Given the description of an element on the screen output the (x, y) to click on. 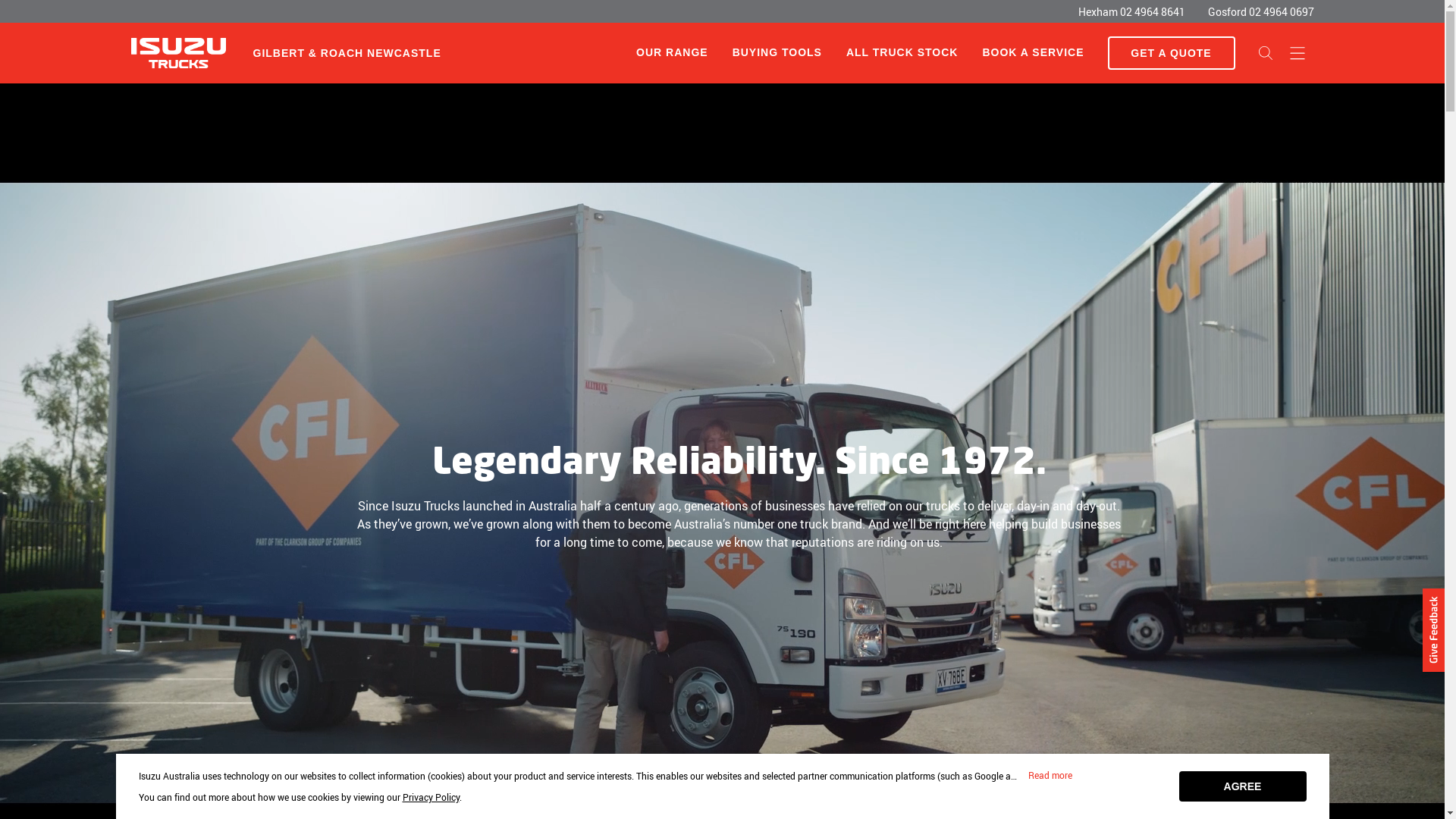
02 4964 8641 Element type: text (1151, 11)
BUYING TOOLS Element type: text (777, 52)
OUR RANGE Element type: text (672, 52)
02 4964 0697 Element type: text (1280, 11)
BOOK A SERVICE Element type: text (1032, 52)
Privacy Policy Element type: text (429, 796)
ALL TRUCK STOCK Element type: text (901, 52)
AGREE Element type: text (1241, 786)
GET A QUOTE Element type: text (1170, 52)
Read more Element type: text (1049, 775)
